Given the description of an element on the screen output the (x, y) to click on. 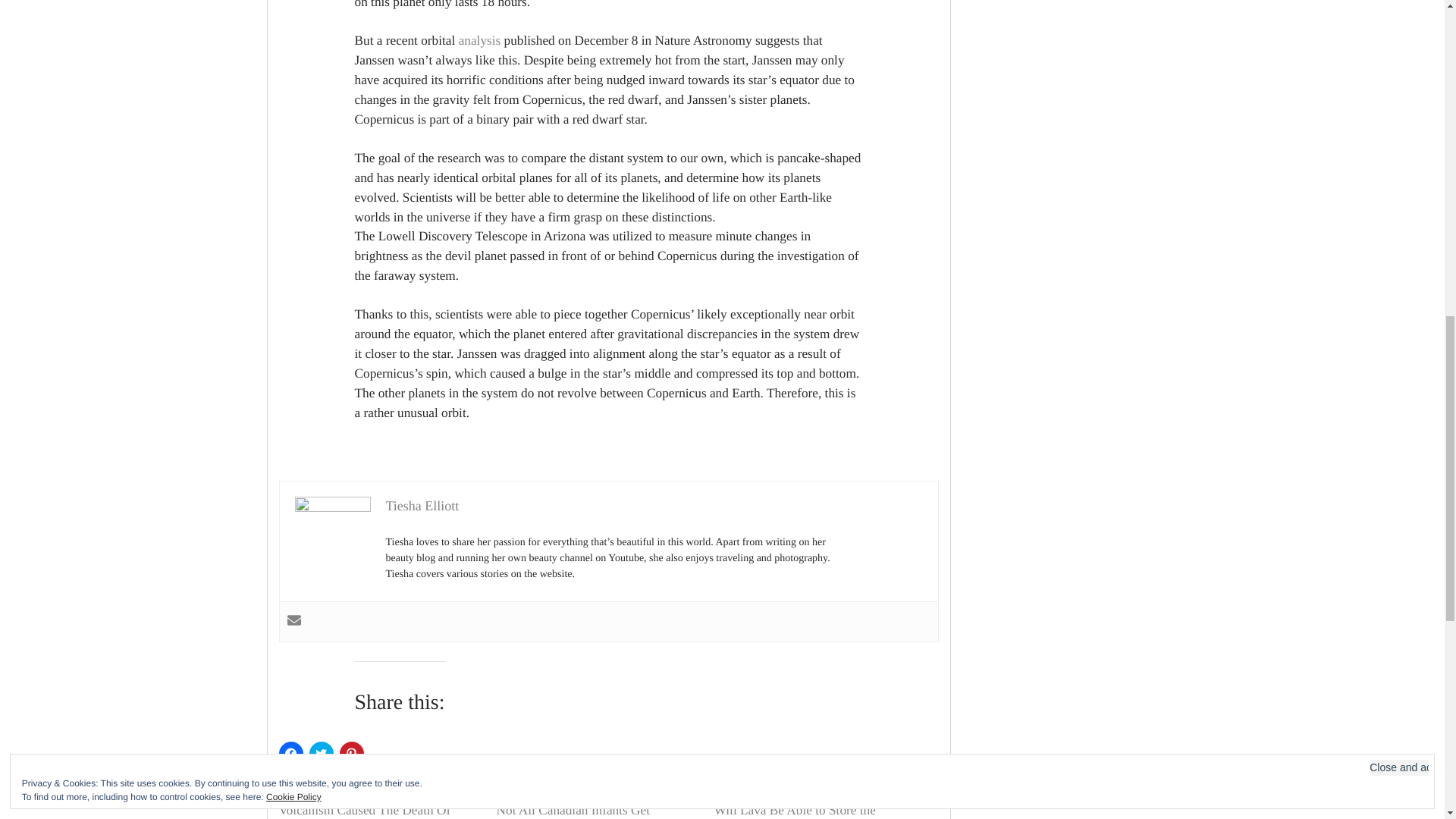
Click to share on Pinterest (351, 753)
Will Lava Be Able to Store the Excess CO2? (795, 811)
Click to share on Twitter (320, 753)
Click to share on Facebook (290, 753)
Tiesha Elliott (421, 505)
Volcanism Caused The Death Of Planet Venus (365, 811)
Will Lava Be Able to Store the Excess CO2? (795, 811)
Volcanism Caused The Death Of Planet Venus (365, 811)
